Given the description of an element on the screen output the (x, y) to click on. 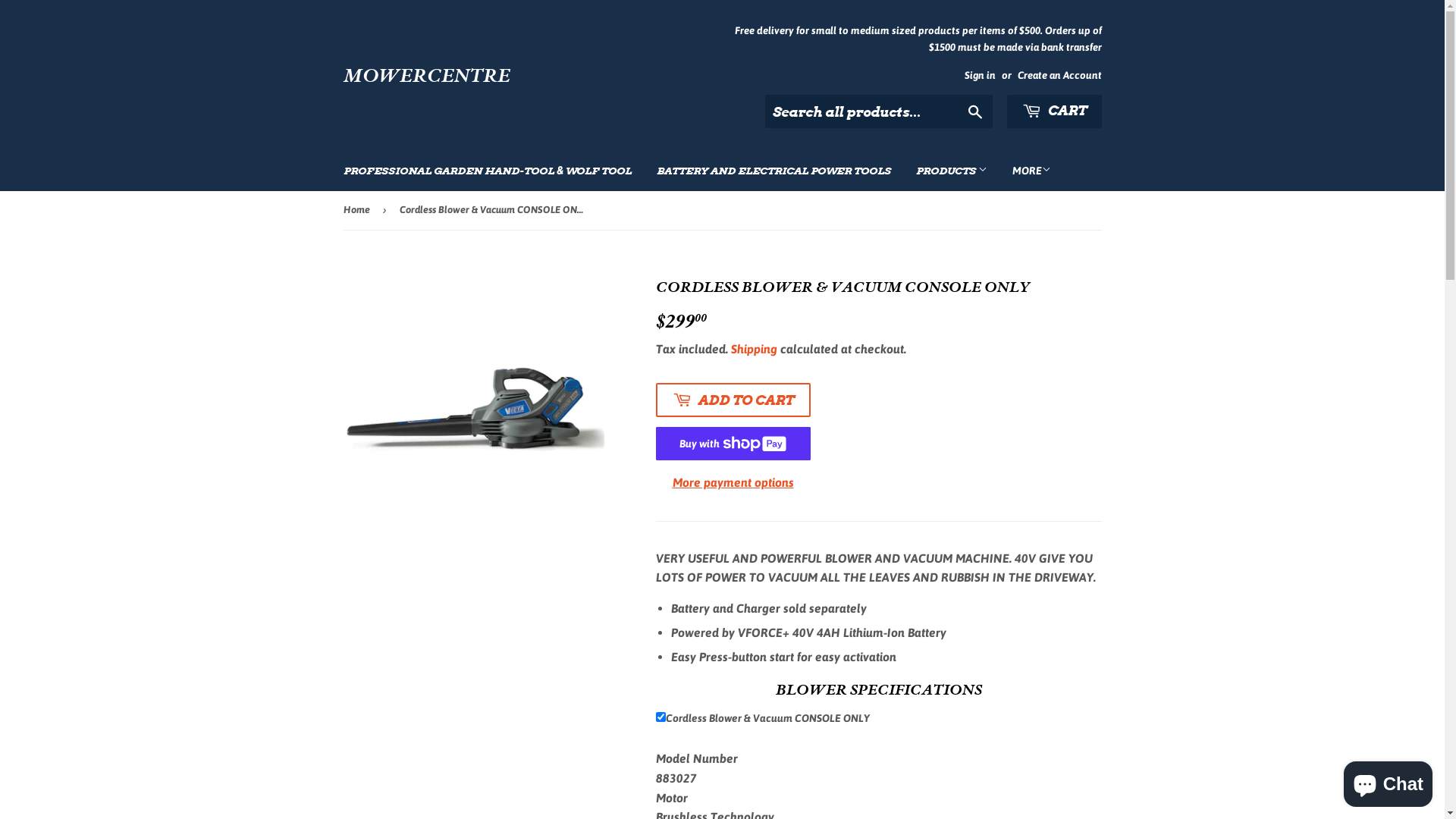
CART Element type: text (1054, 111)
ADD TO CART Element type: text (732, 399)
PROFESSIONAL GARDEN HAND-TOOL & WOLF TOOL Element type: text (487, 170)
Search Element type: text (975, 112)
Sign in Element type: text (979, 74)
Home Element type: text (358, 210)
More payment options Element type: text (732, 482)
Create an Account Element type: text (1059, 74)
Shopify online store chat Element type: hover (1388, 780)
BATTERY AND ELECTRICAL POWER TOOLS Element type: text (772, 170)
PRODUCTS Element type: text (950, 170)
MOWERCENTRE Element type: text (531, 75)
Shipping Element type: text (754, 348)
MORE Element type: text (1031, 170)
